Given the description of an element on the screen output the (x, y) to click on. 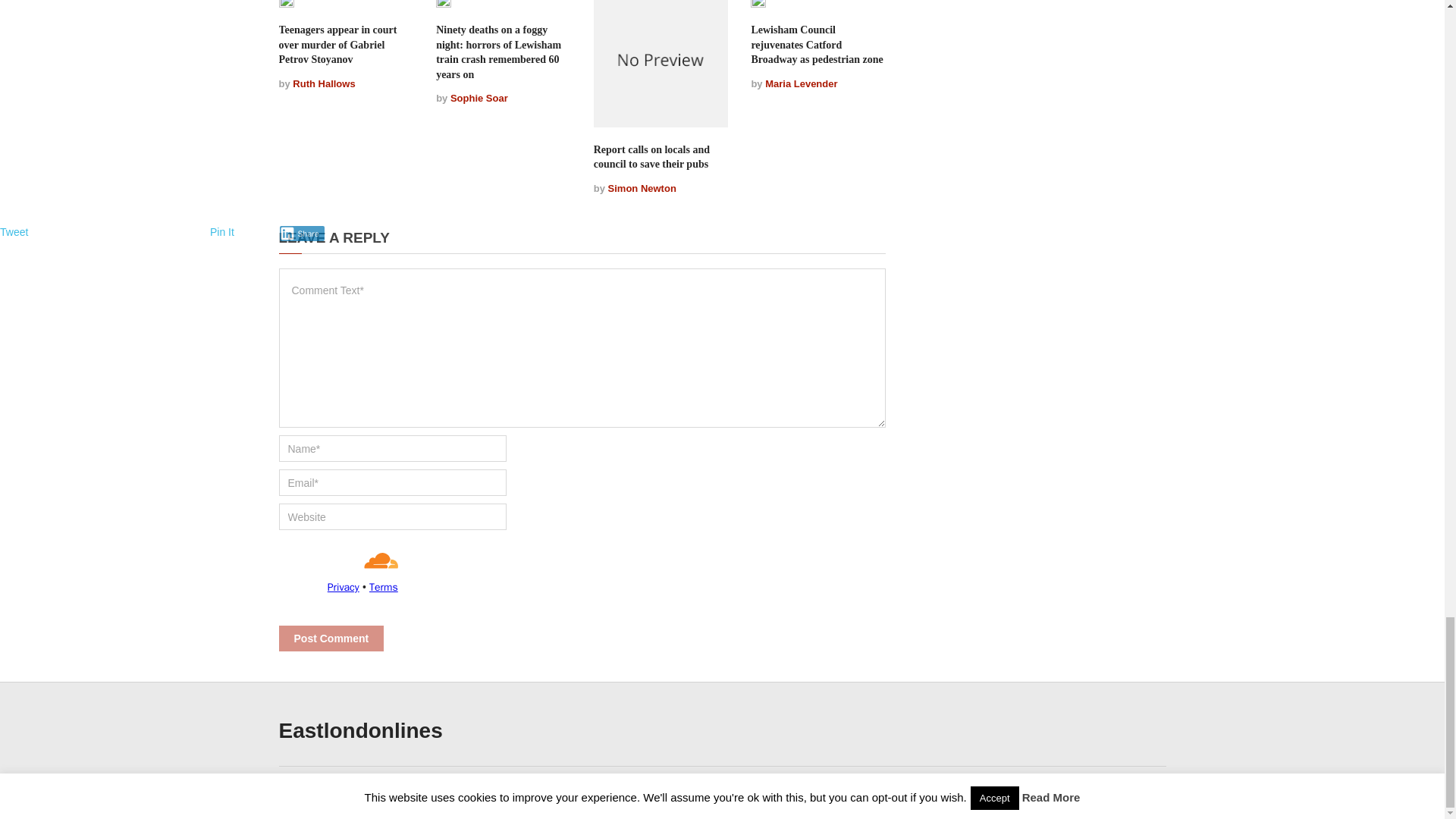
Report calls on locals and council to save their pubs (652, 157)
Posts by Ruth Hallows (323, 83)
Post Comment (331, 638)
Posts by Sophie Soar (478, 98)
Posts by Simon Newton (642, 188)
